Given the description of an element on the screen output the (x, y) to click on. 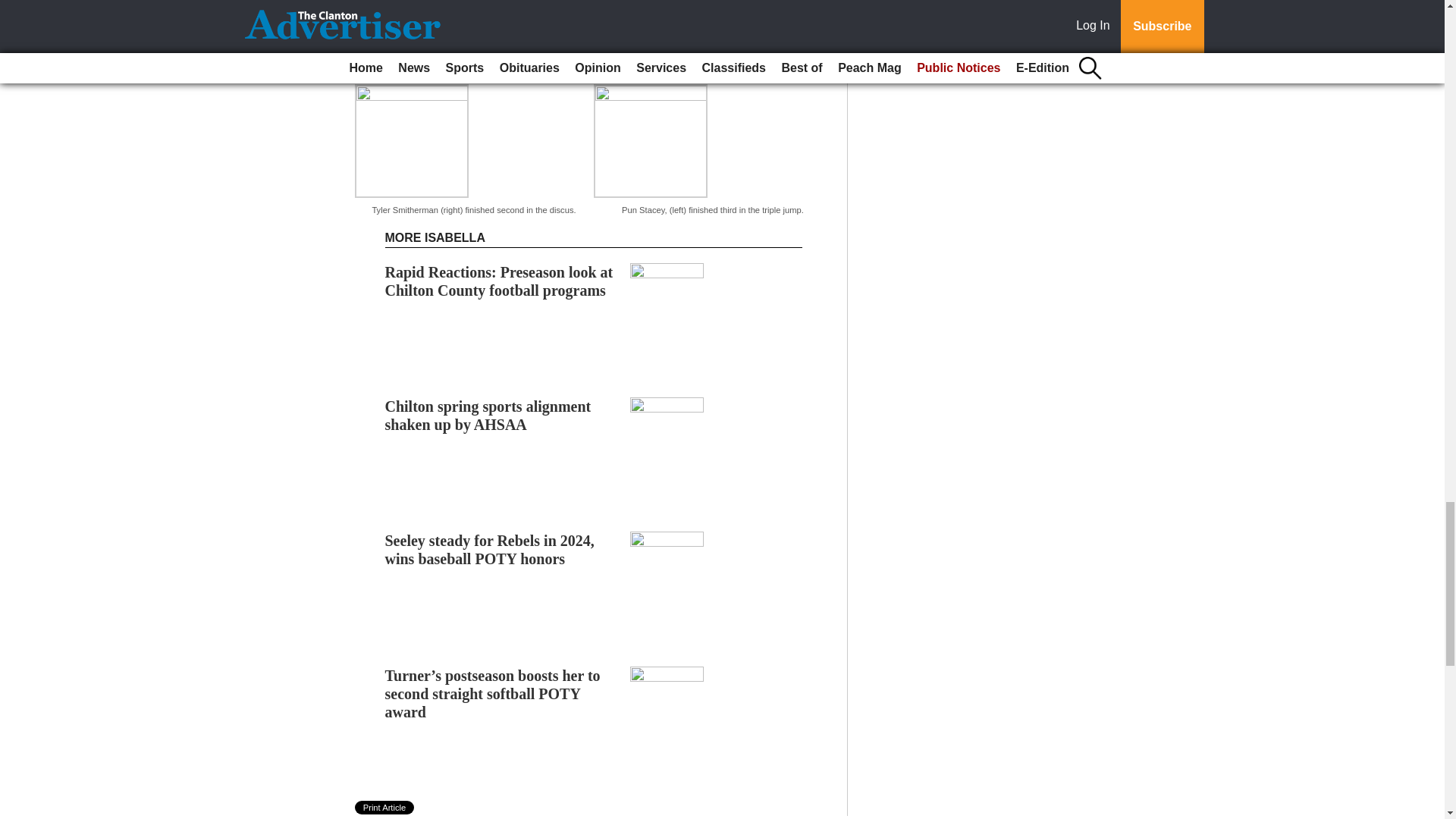
Chilton spring sports alignment shaken up by AHSAA (488, 393)
Chilton spring sports alignment shaken up by AHSAA (488, 393)
Seeley steady for Rebels in 2024, wins baseball POTY honors (489, 528)
Seeley steady for Rebels in 2024, wins baseball POTY honors (489, 528)
